Given the description of an element on the screen output the (x, y) to click on. 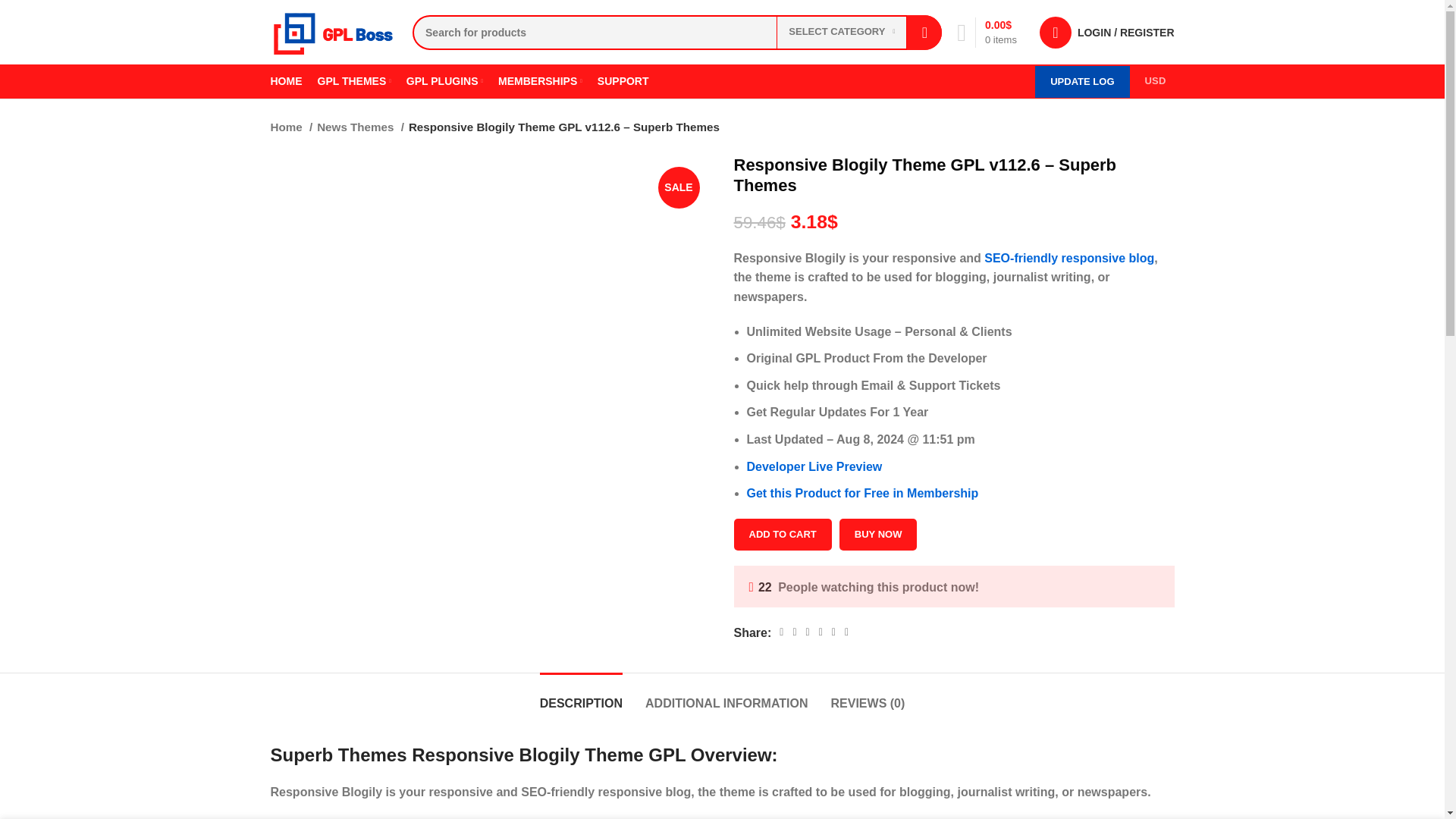
My account (1107, 31)
Shopping cart (987, 31)
SELECT CATEGORY (841, 32)
Search for products (677, 32)
SELECT CATEGORY (841, 32)
